Given the description of an element on the screen output the (x, y) to click on. 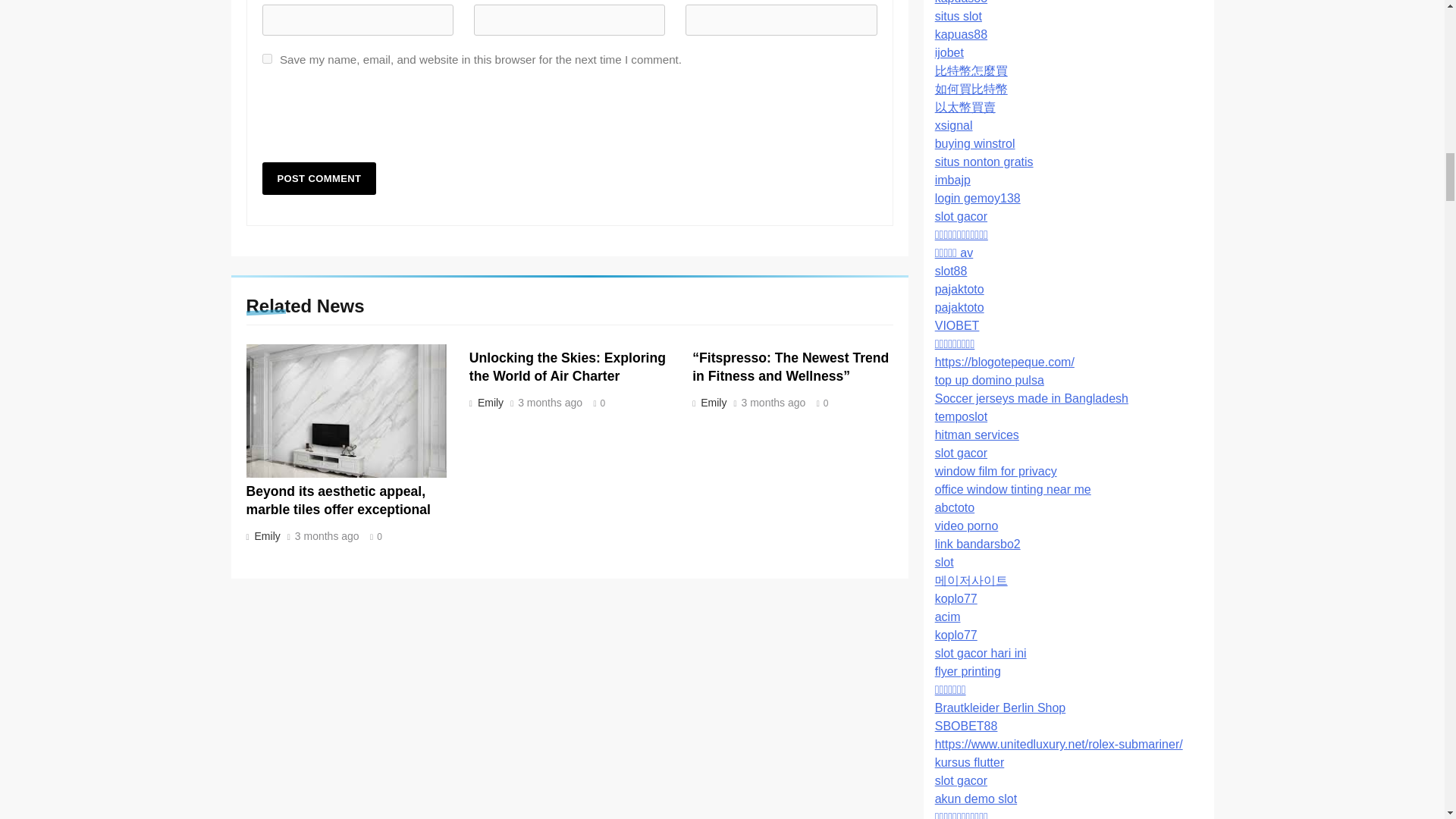
Post Comment (319, 178)
Post Comment (319, 178)
Unlocking the Skies: Exploring the World of Air Charter (566, 367)
Emily (712, 402)
Emily (488, 402)
Emily (265, 535)
3 months ago (550, 403)
Beyond its aesthetic appeal, marble tiles offer exceptional (337, 500)
3 months ago (327, 536)
reCAPTCHA (377, 119)
